Given the description of an element on the screen output the (x, y) to click on. 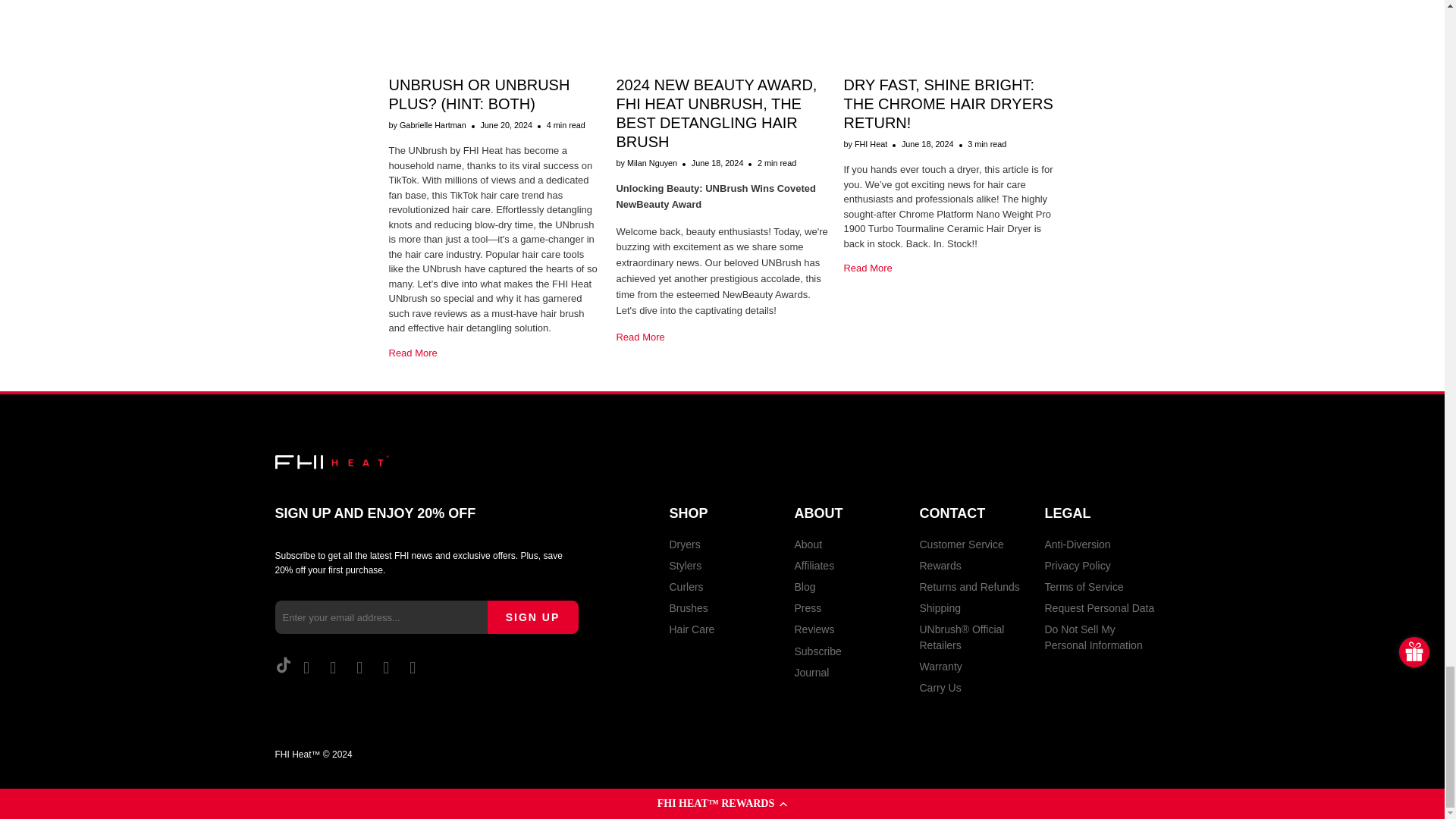
Sign Up (532, 616)
